Given the description of an element on the screen output the (x, y) to click on. 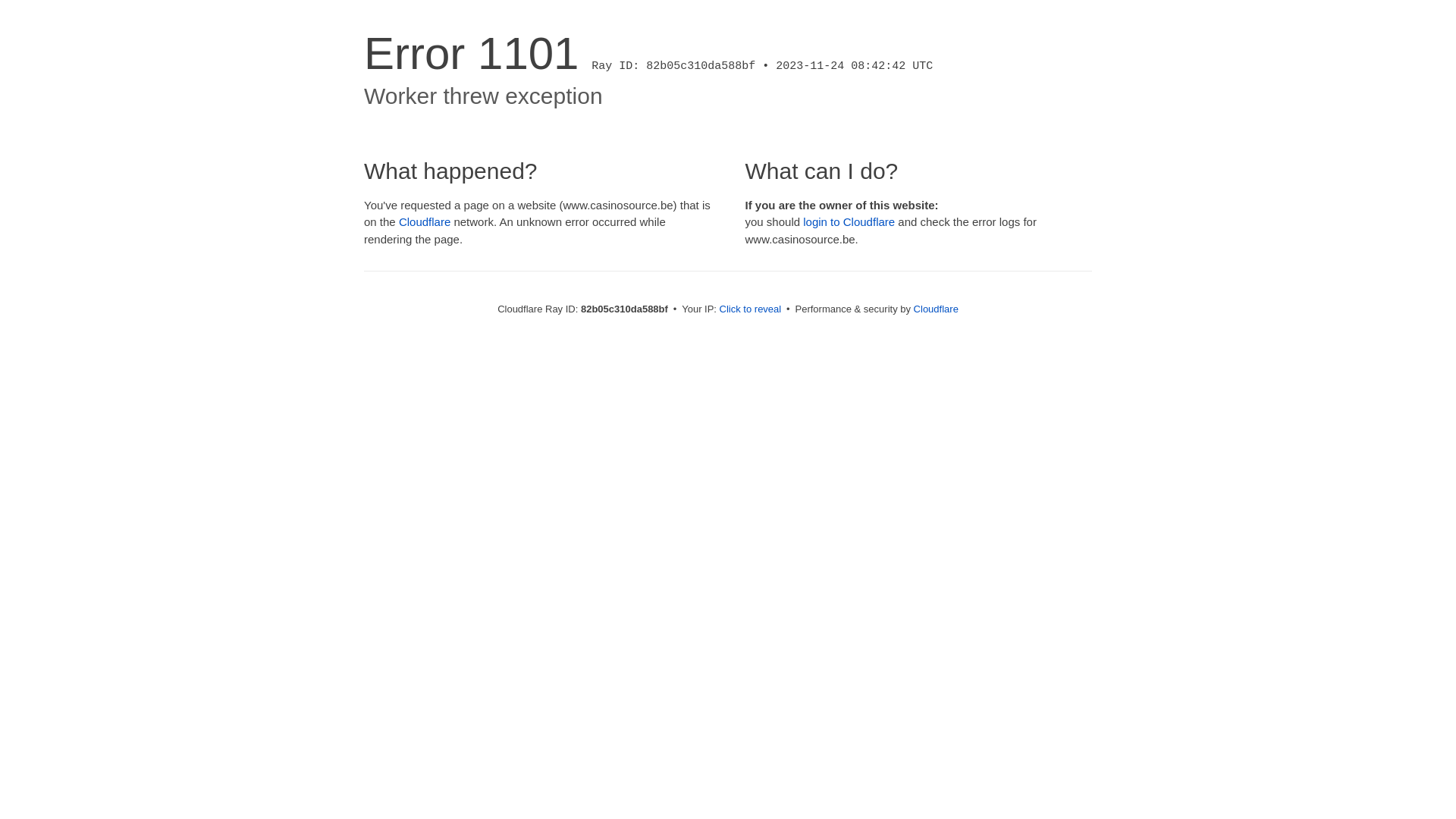
Cloudflare Element type: text (935, 308)
Cloudflare Element type: text (424, 221)
login to Cloudflare Element type: text (848, 221)
Click to reveal Element type: text (750, 308)
